Given the description of an element on the screen output the (x, y) to click on. 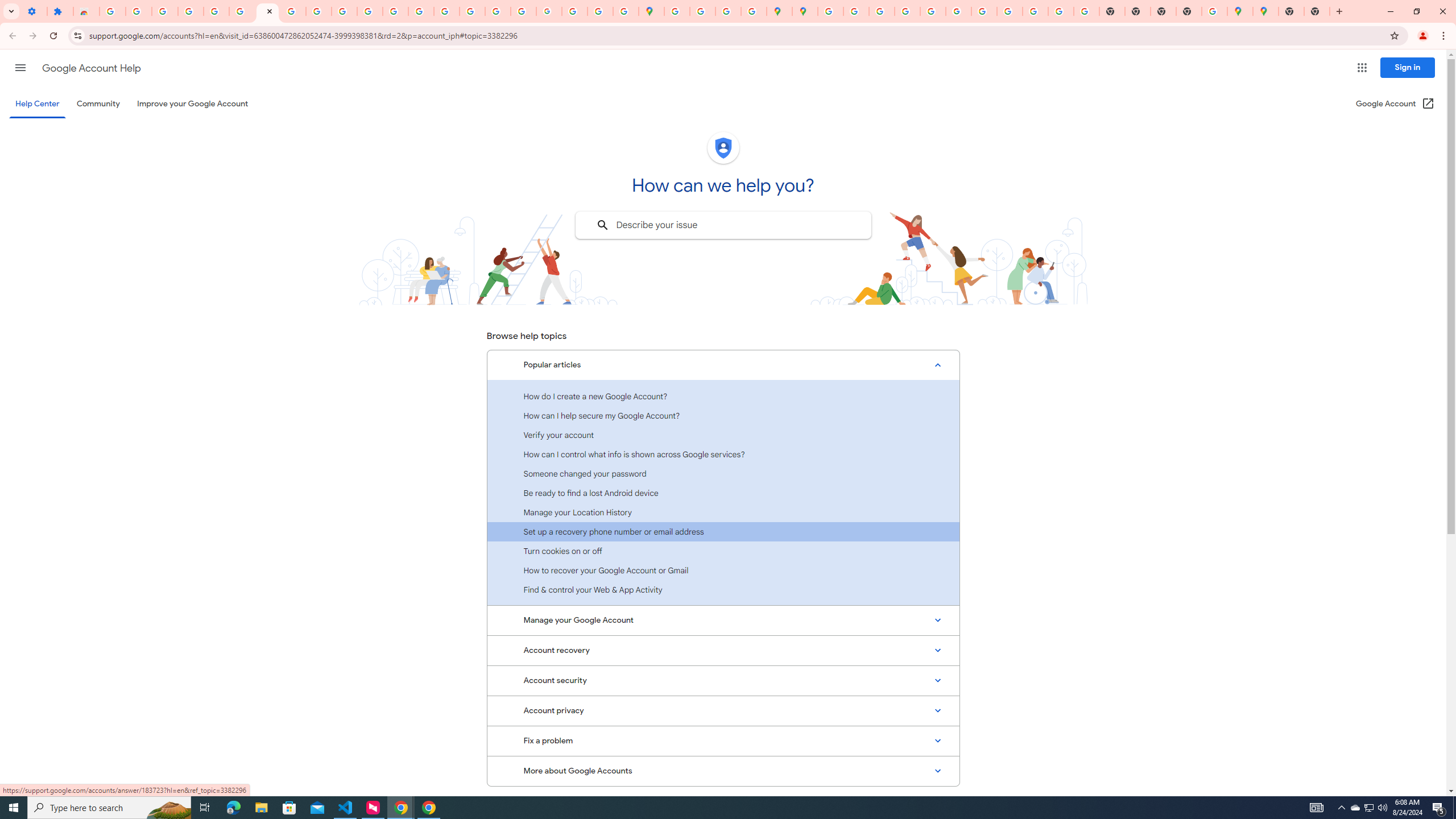
Google Account Help (266, 11)
Verify your account (722, 434)
Google Maps (1265, 11)
New Tab (1188, 11)
Account recovery (722, 650)
Main menu (20, 67)
Account privacy (722, 710)
Google Maps (651, 11)
